Given the description of an element on the screen output the (x, y) to click on. 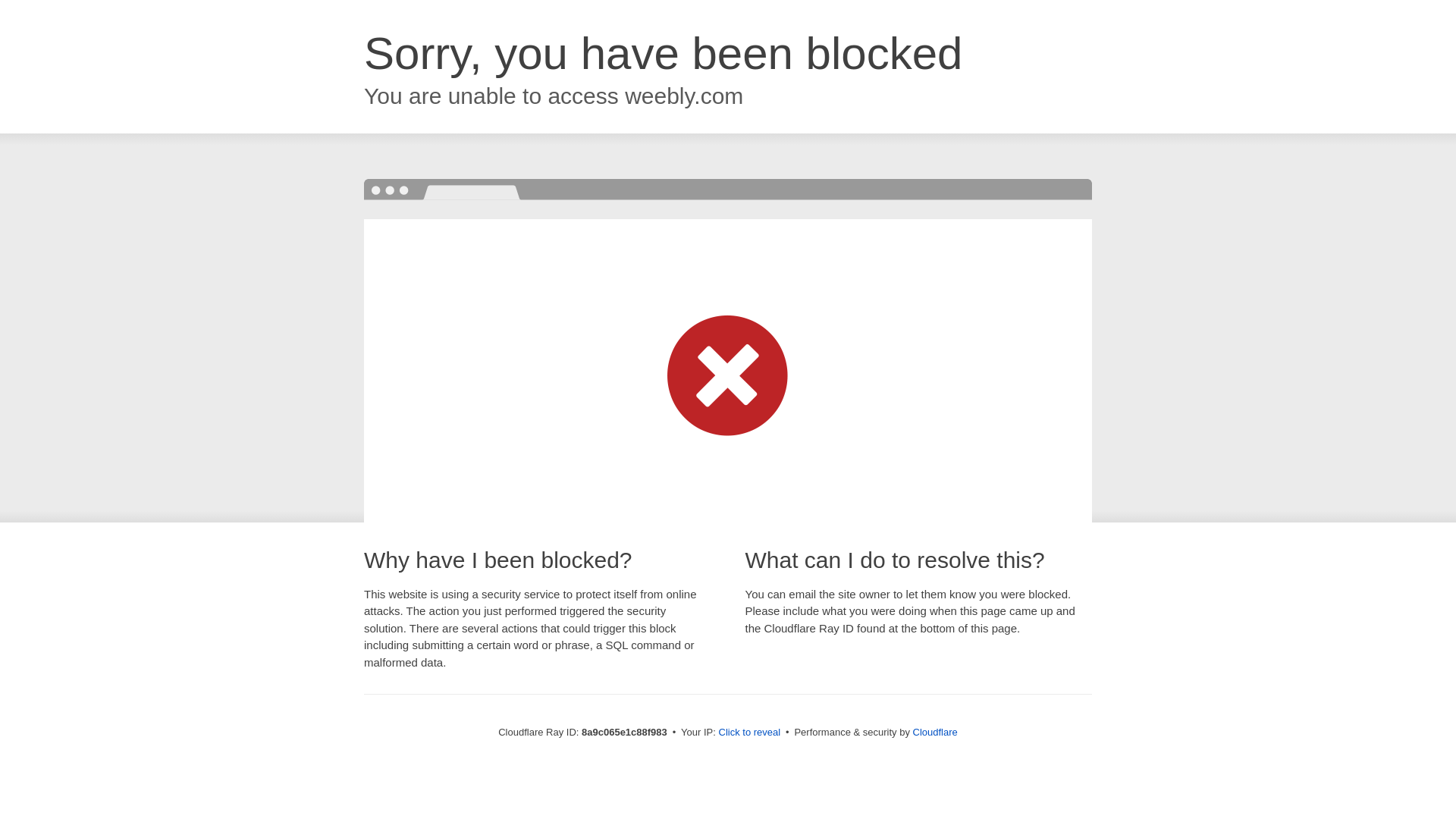
Cloudflare (935, 731)
Click to reveal (749, 732)
